Given the description of an element on the screen output the (x, y) to click on. 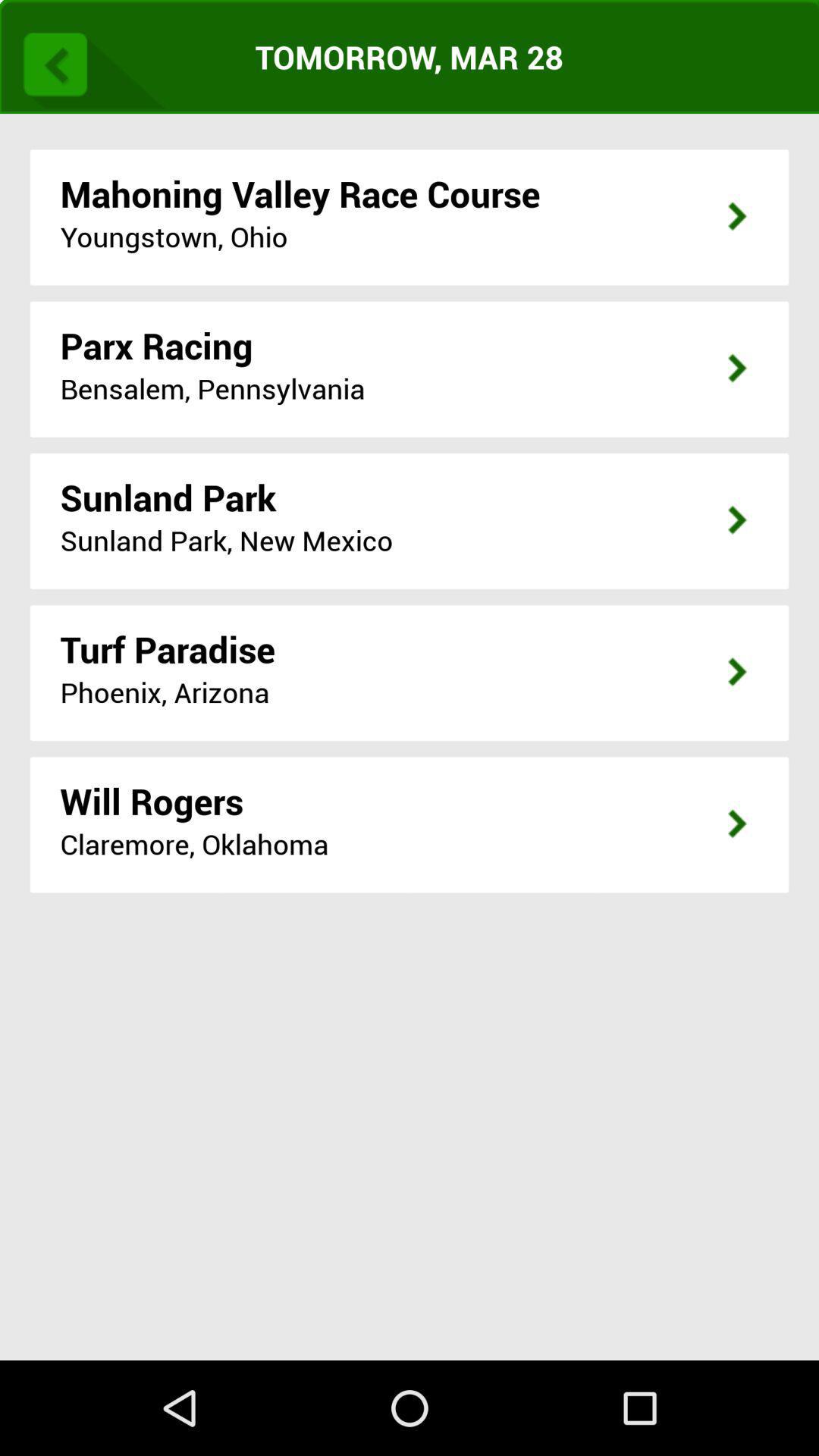
launch the icon at the top left corner (89, 61)
